Given the description of an element on the screen output the (x, y) to click on. 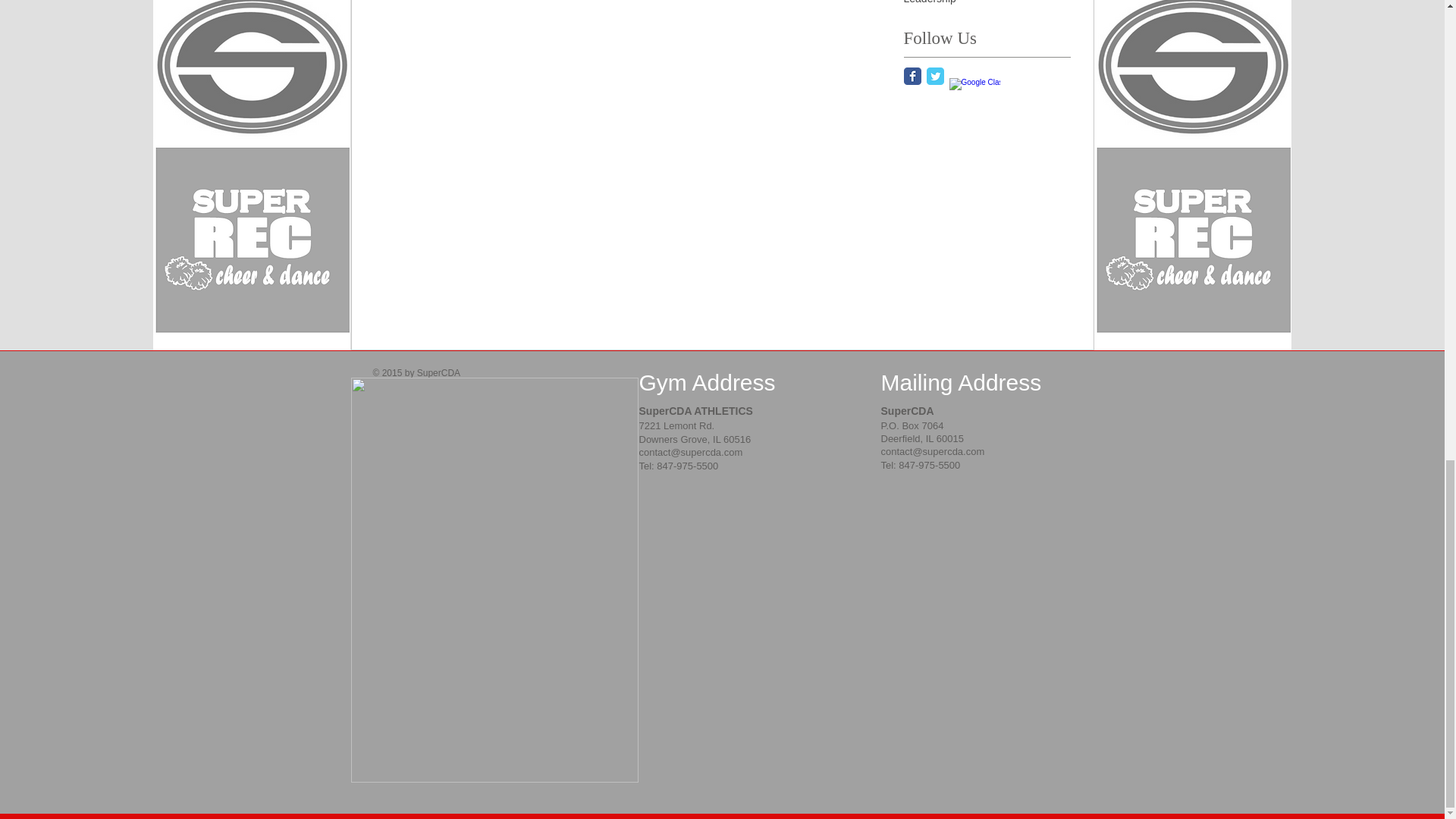
Leadership (930, 2)
